Given the description of an element on the screen output the (x, y) to click on. 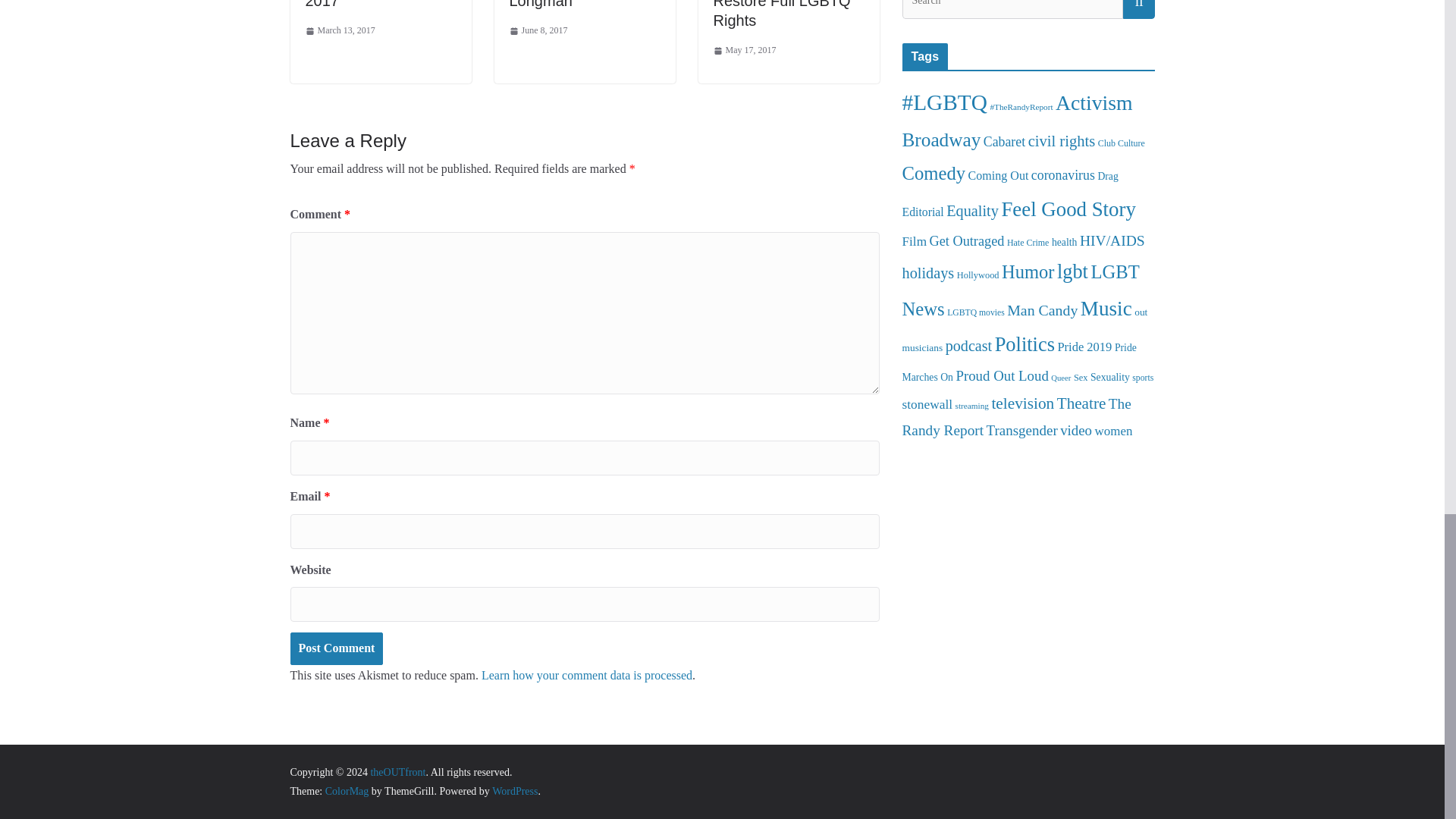
May 17, 2017 (744, 50)
North Carolina Governor vows to Restore Full LGBTQ Rights (781, 14)
June 8, 2017 (538, 30)
Post Comment (335, 648)
March 13, 2017 (339, 30)
Meet Gay, ABC NEWS Hunk, James Longman (578, 4)
